Given the description of an element on the screen output the (x, y) to click on. 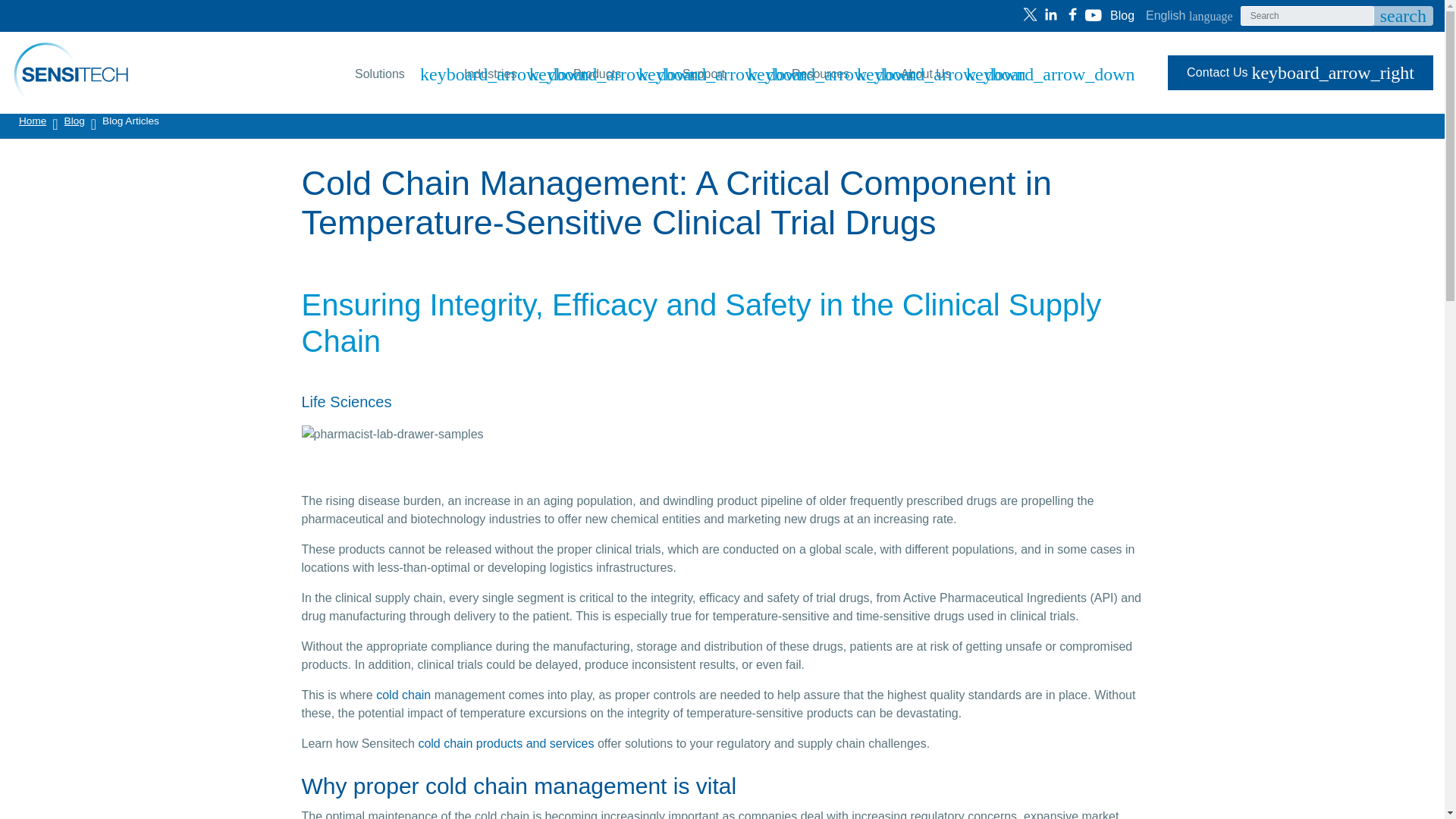
Twitter (1188, 15)
Youtube (1029, 13)
Facebook (1093, 13)
Support (1072, 13)
Solutions (721, 72)
Industries (394, 72)
Blog (503, 72)
Youtube (1125, 15)
Products (1093, 13)
LinkedIn (612, 72)
